Given the description of an element on the screen output the (x, y) to click on. 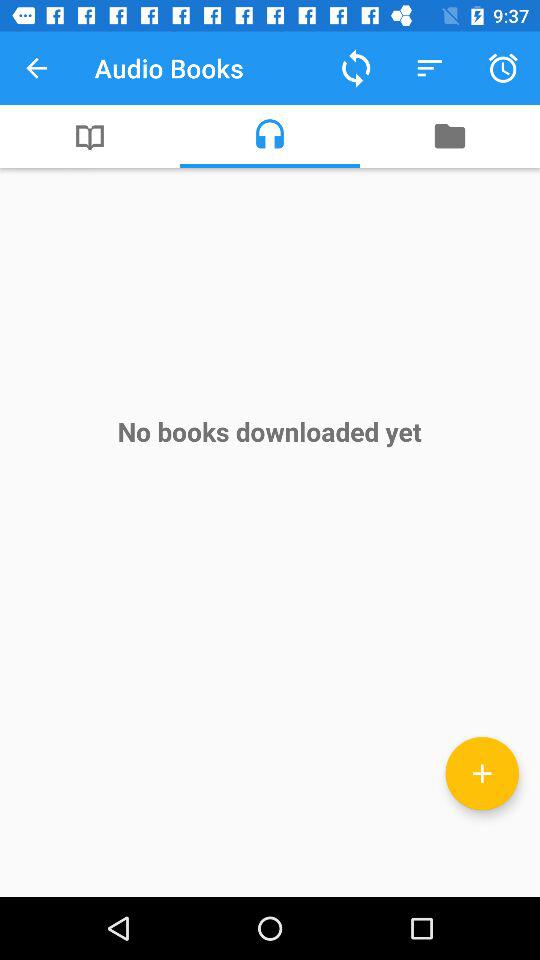
tap the icon at the bottom right corner (482, 773)
